Given the description of an element on the screen output the (x, y) to click on. 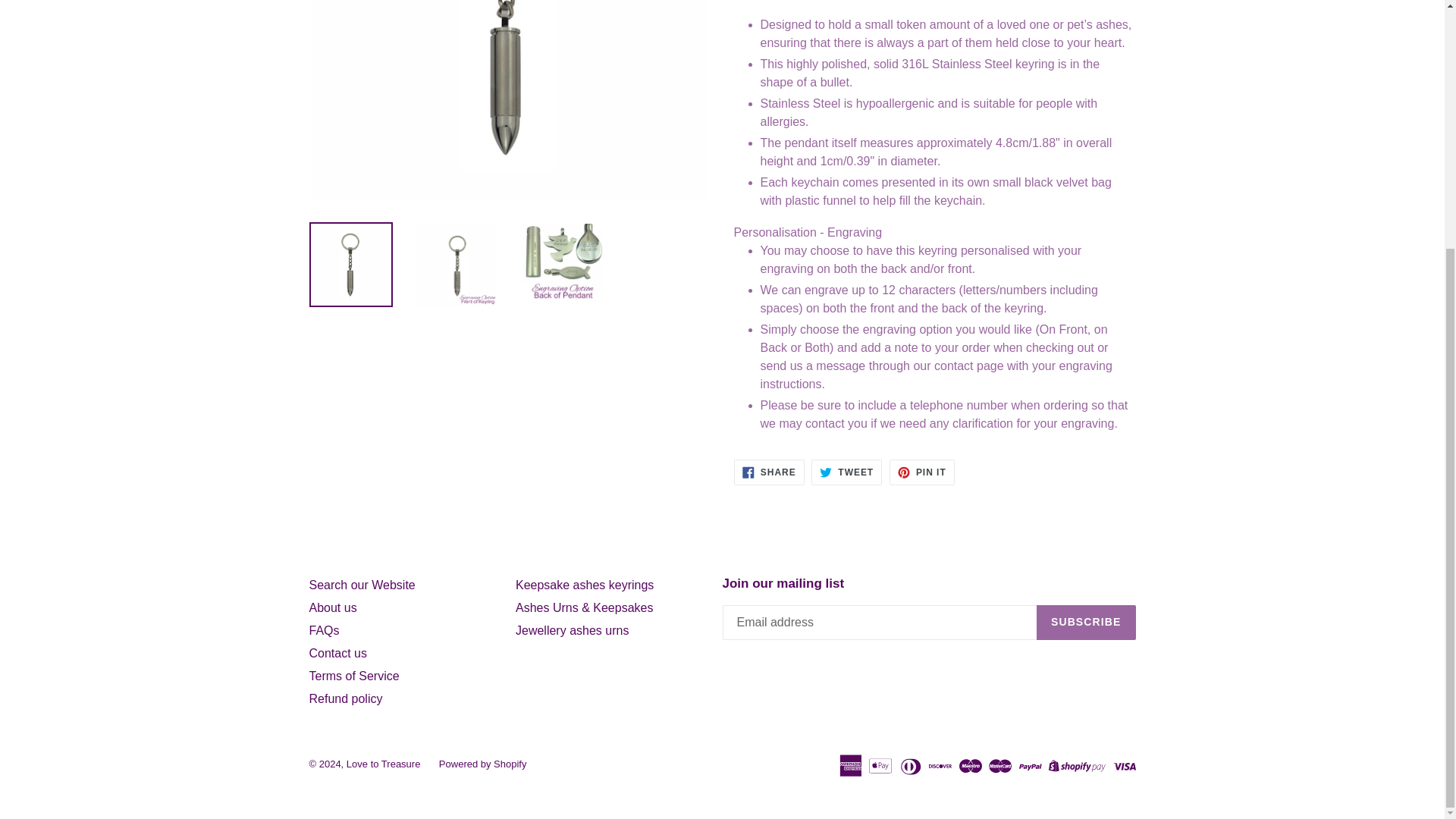
Pin on Pinterest (922, 472)
Tweet on Twitter (846, 472)
Share on Facebook (769, 472)
